Given the description of an element on the screen output the (x, y) to click on. 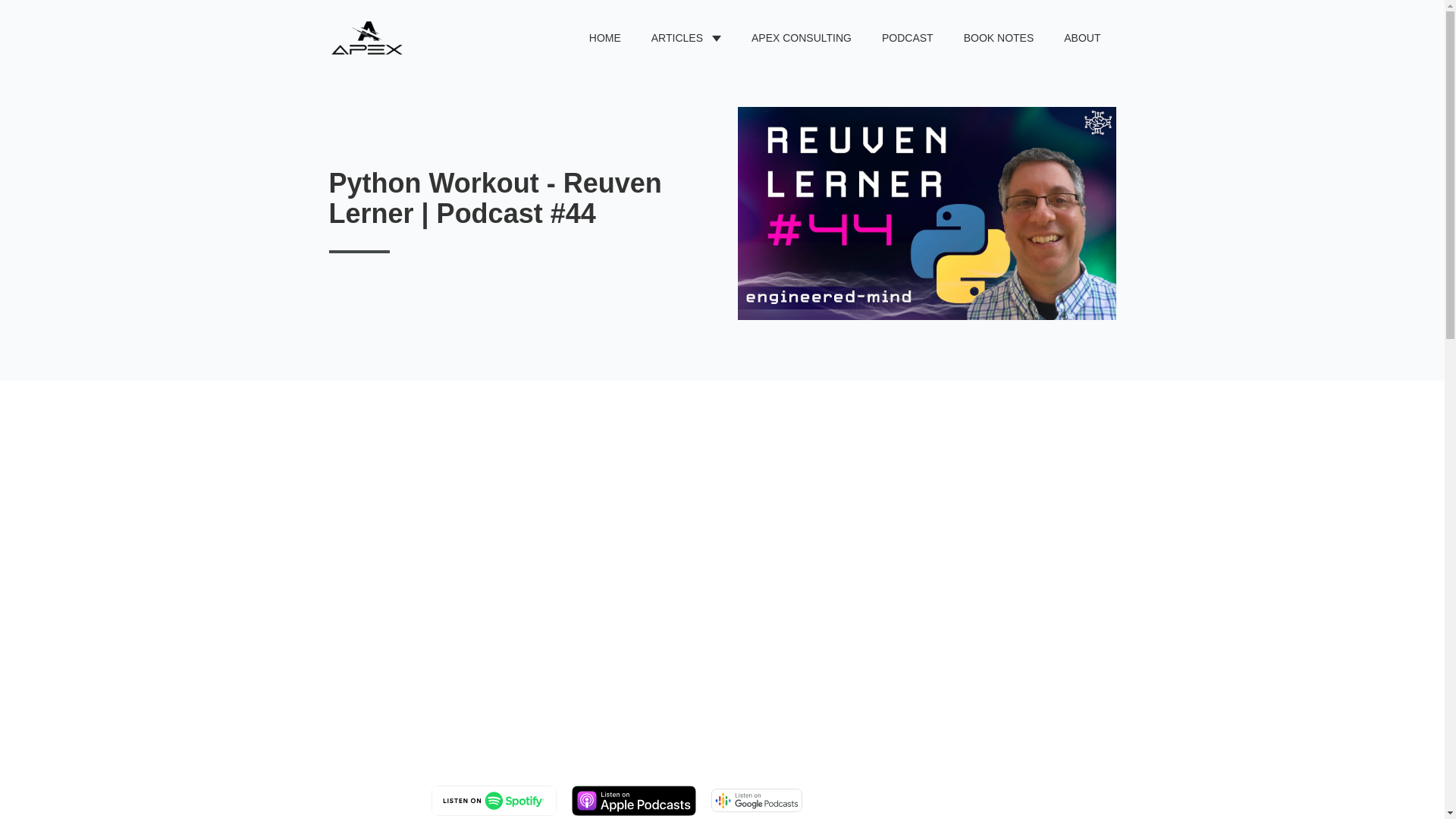
HOME (605, 37)
ARTICLES (676, 37)
ABOUT (1082, 37)
PODCAST (907, 37)
BOOK NOTES (998, 37)
APEX CONSULTING (801, 37)
